Given the description of an element on the screen output the (x, y) to click on. 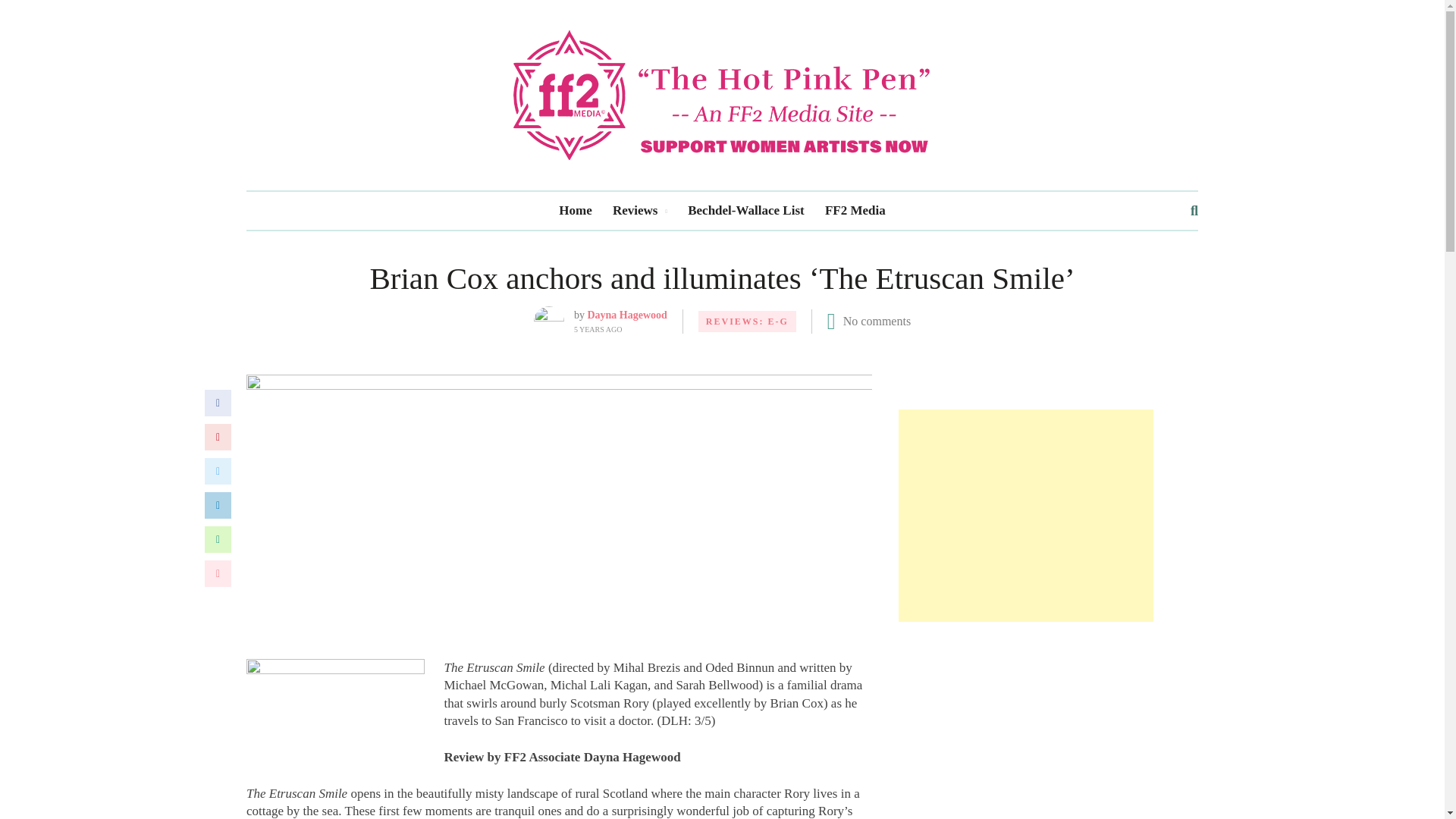
The Hot Pink Pen (722, 94)
No comments (877, 320)
Bechdel-Wallace List (745, 210)
Reviews (639, 210)
Dayna Hagewood (626, 315)
REVIEWS: E-G (747, 321)
Advertisement (1025, 732)
FF2 Media (855, 210)
